Given the description of an element on the screen output the (x, y) to click on. 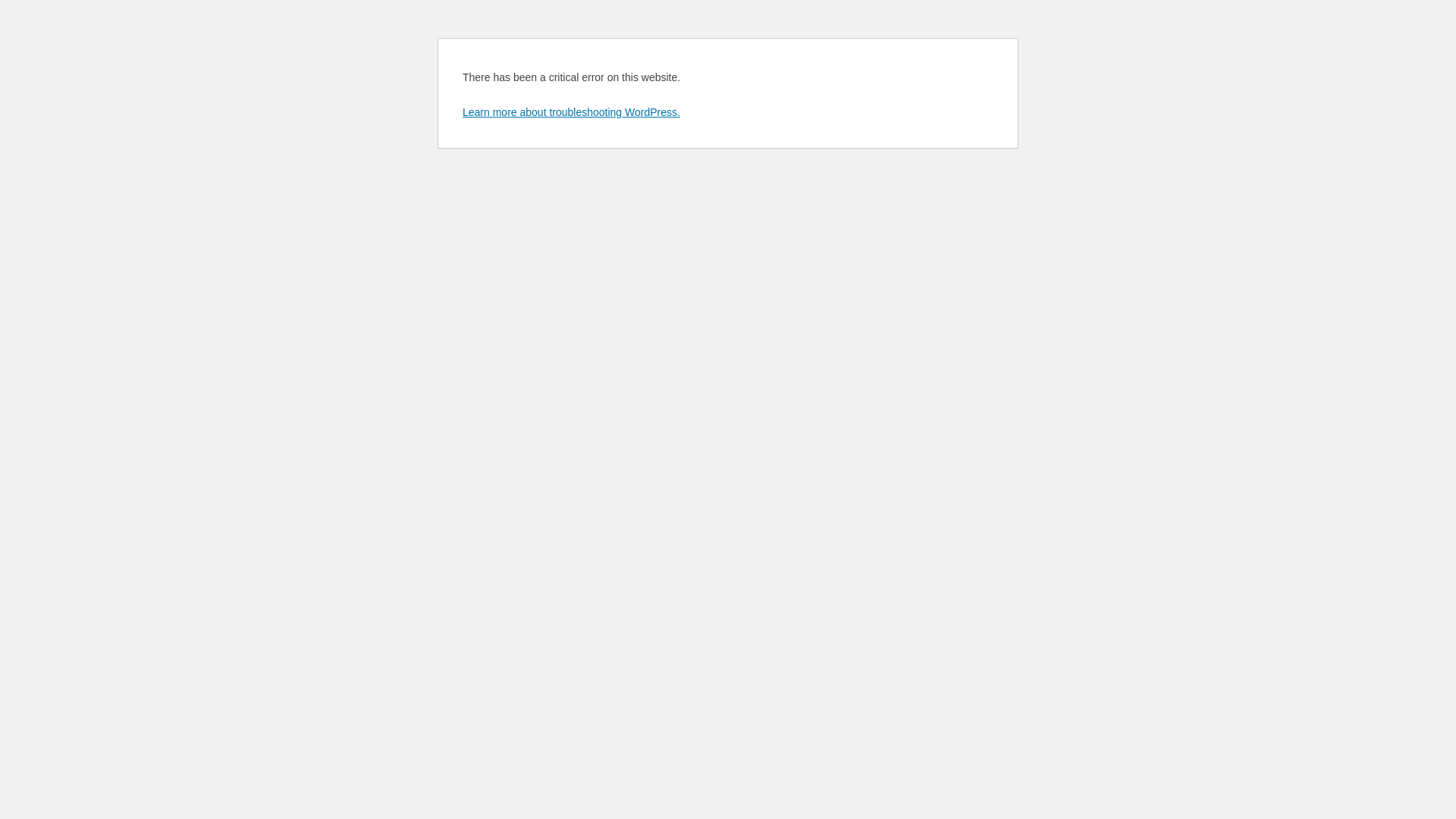
Learn more about troubleshooting WordPress. Element type: text (571, 112)
